Given the description of an element on the screen output the (x, y) to click on. 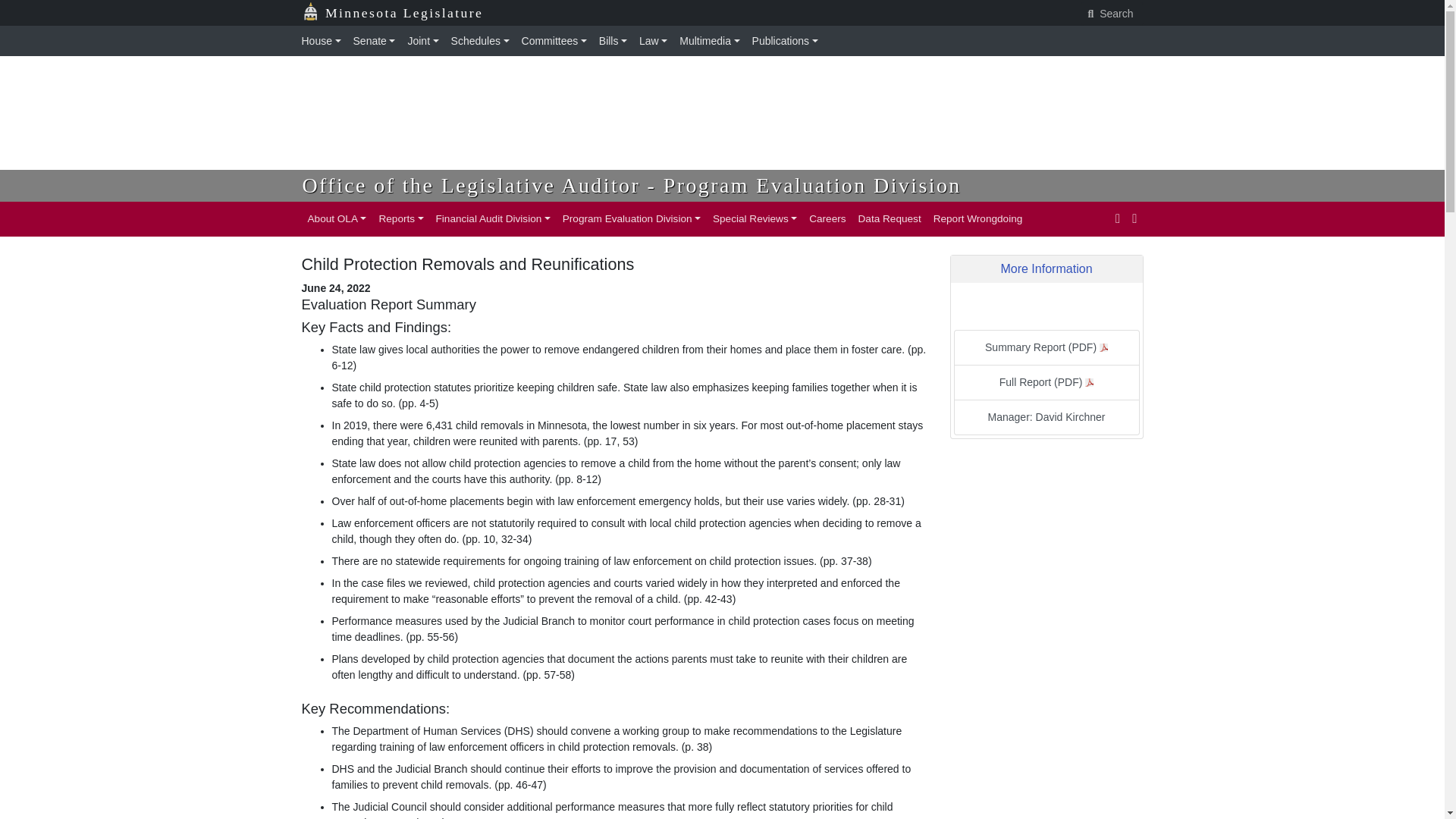
Search (1111, 13)
House (324, 40)
Minnesota Legislature (402, 12)
Senate (374, 40)
